Given the description of an element on the screen output the (x, y) to click on. 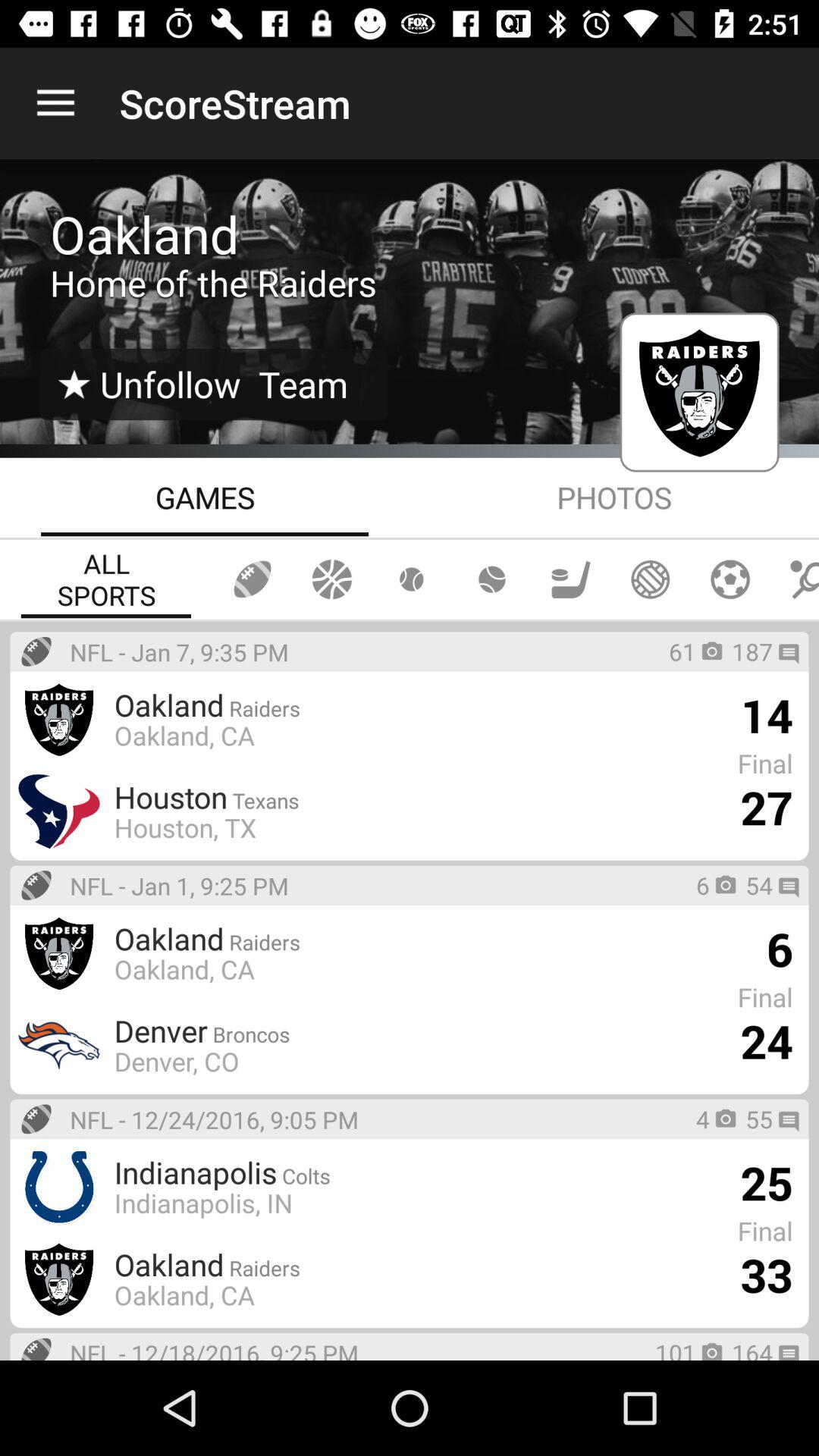
choose the item below the nfl 12 24 icon (203, 1202)
